Given the description of an element on the screen output the (x, y) to click on. 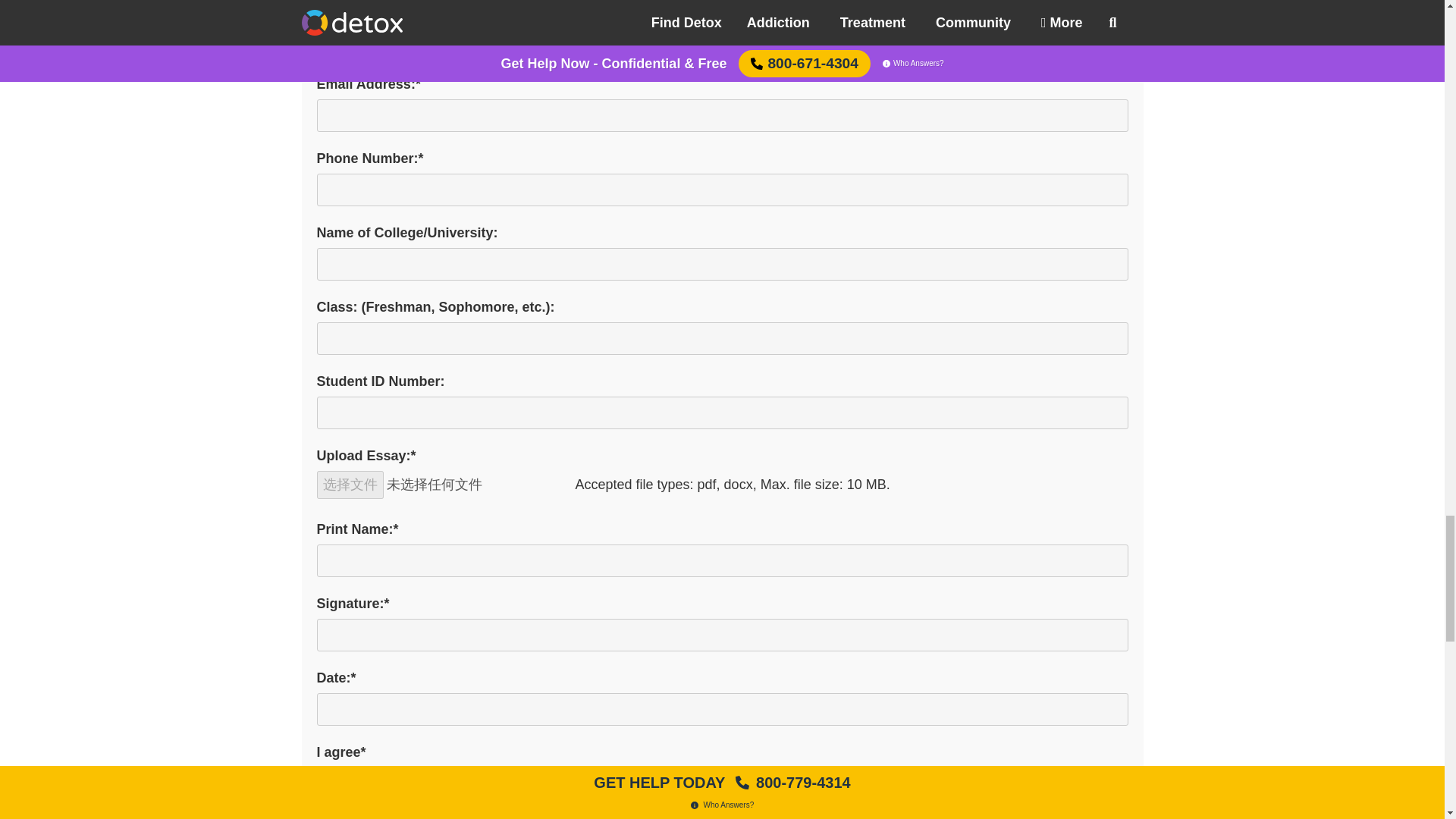
1 (321, 779)
